Given the description of an element on the screen output the (x, y) to click on. 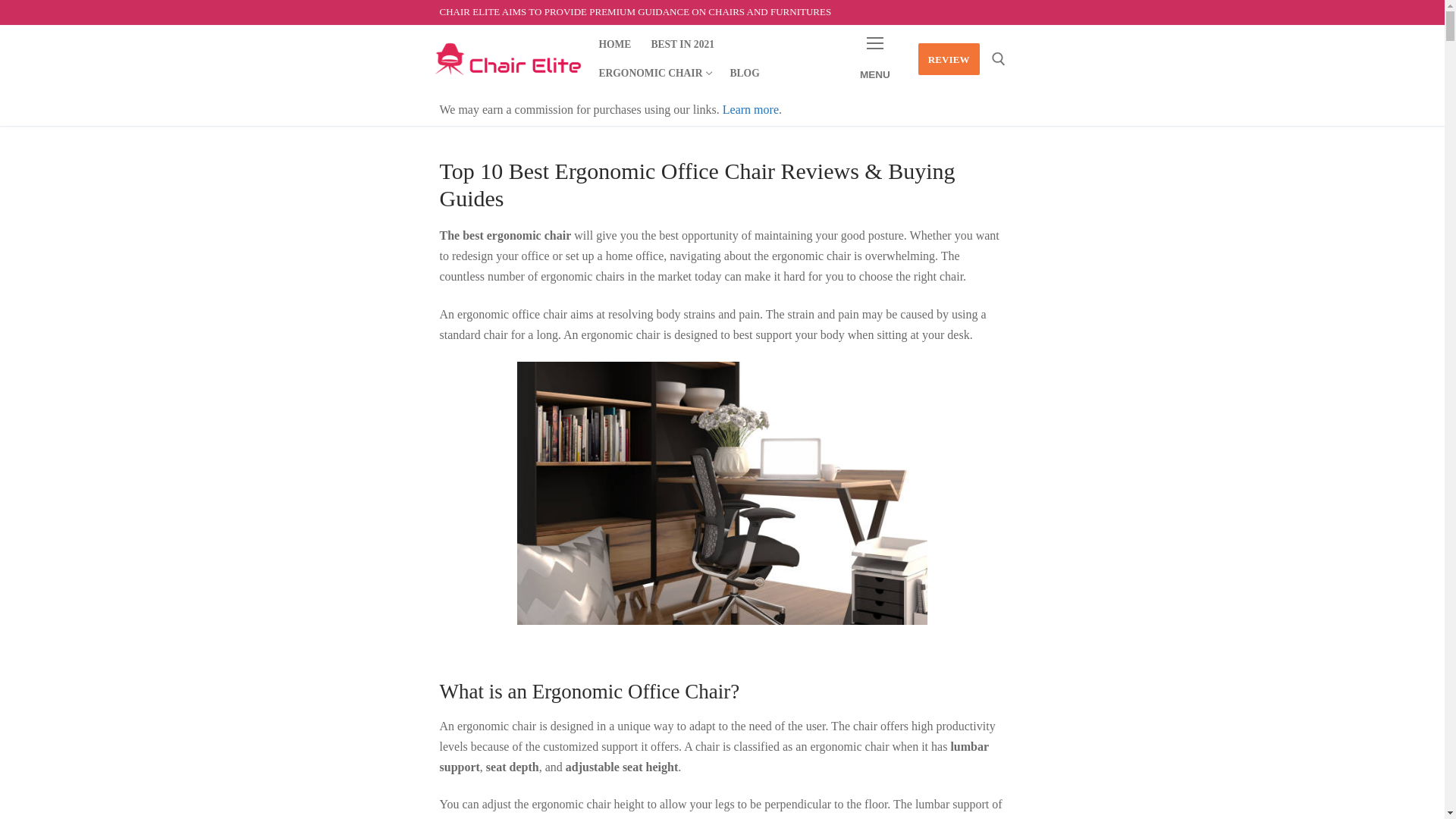
HOME (614, 44)
Learn more (750, 109)
MENU (874, 59)
REVIEW (948, 58)
BLOG (743, 72)
BEST IN 2021 (681, 44)
